Given the description of an element on the screen output the (x, y) to click on. 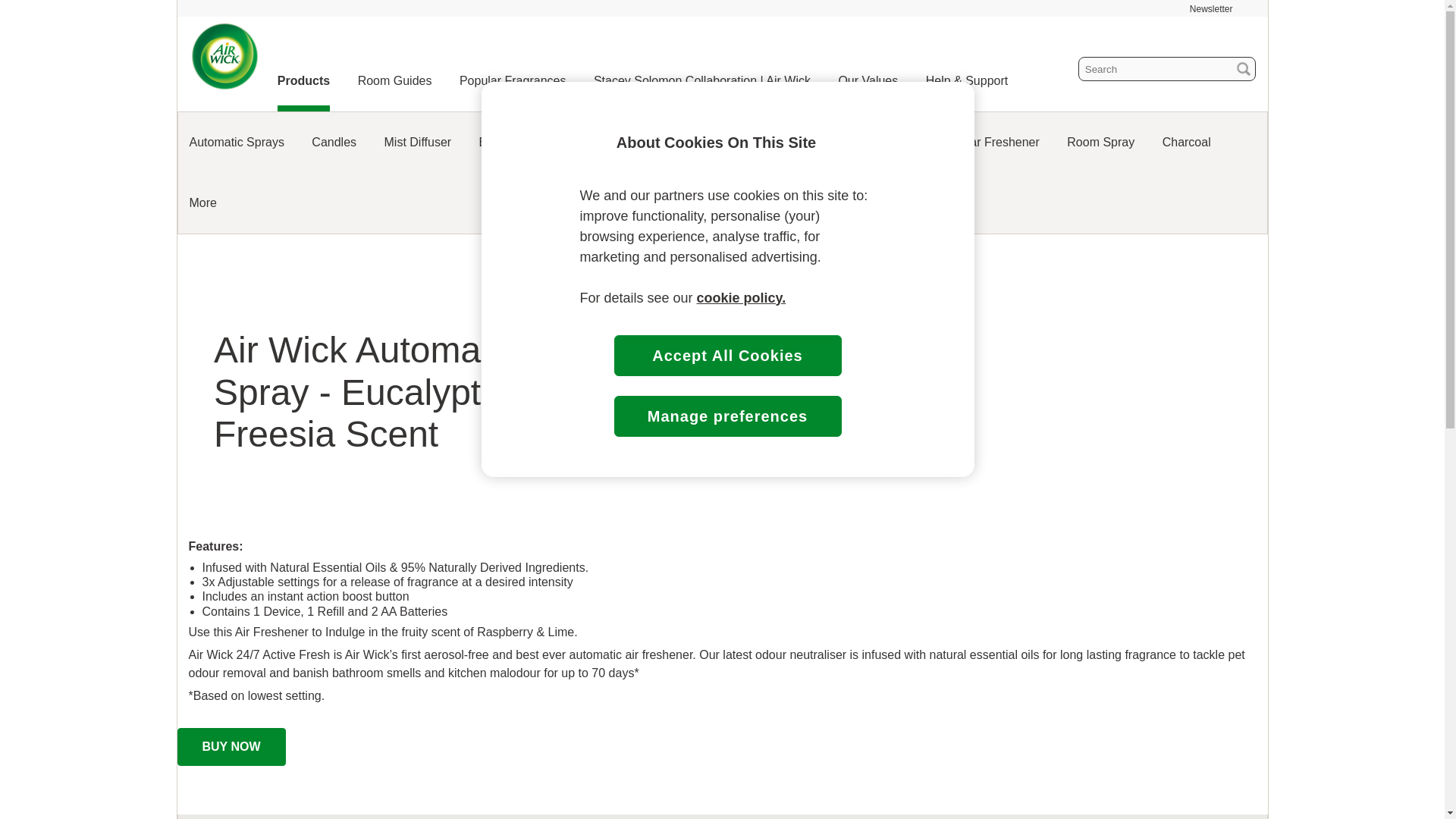
Room Guides (395, 80)
VIPoo Toilet Spray (756, 142)
Mist Diffuser (417, 142)
Electrical Plugins (525, 142)
Reed Diffusers (638, 142)
Popular Fragrances (513, 80)
Car Freshener (999, 142)
Automatic Sprays (236, 142)
Reed Diffusers (638, 142)
Electrical Plugins (525, 142)
Newsletter (1211, 9)
Automatic Sprays (236, 142)
Car Freshener (999, 142)
Room Spray (1100, 142)
Room Guides (395, 80)
